Given the description of an element on the screen output the (x, y) to click on. 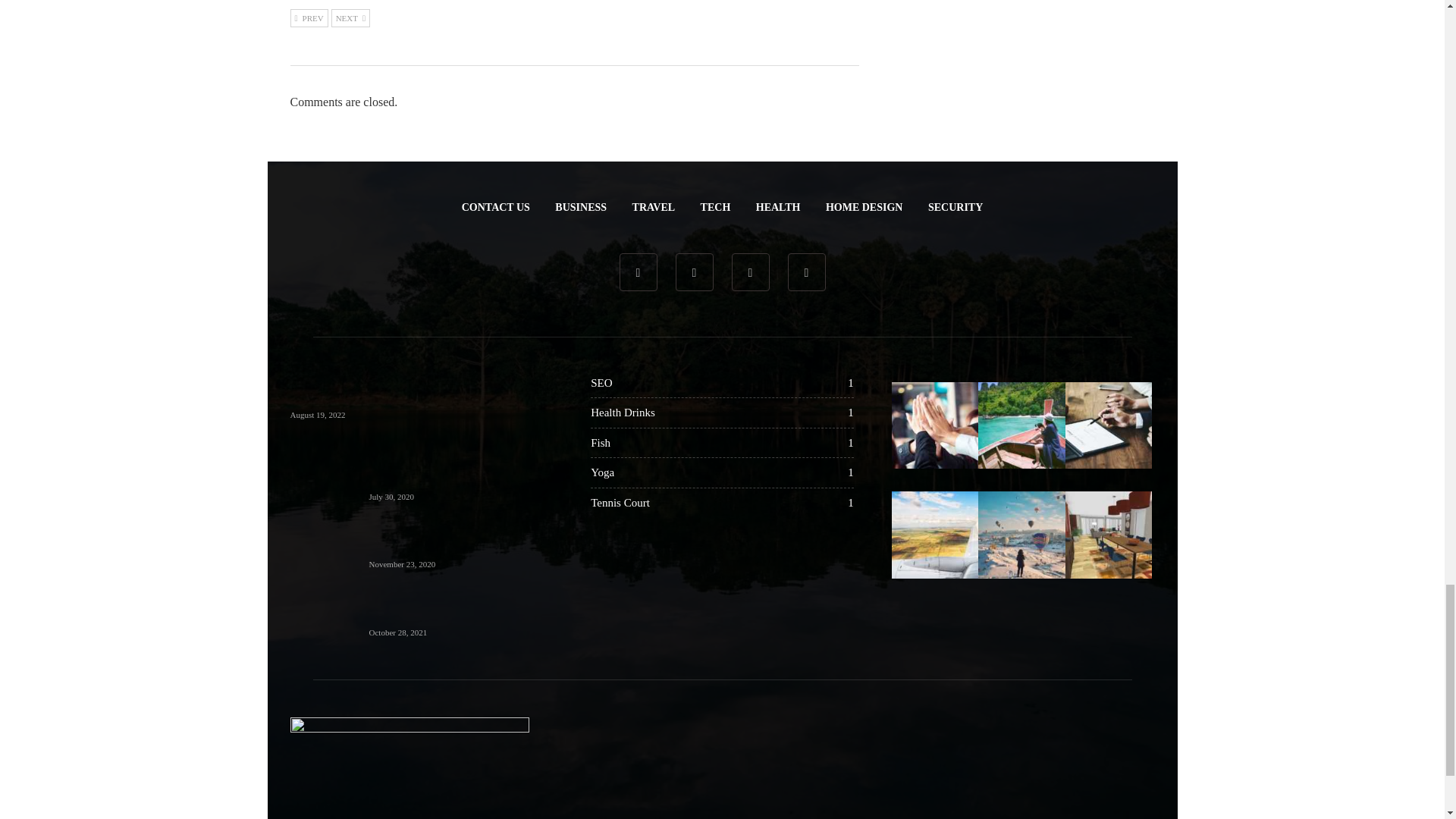
Previous (308, 18)
Next (350, 18)
